Given the description of an element on the screen output the (x, y) to click on. 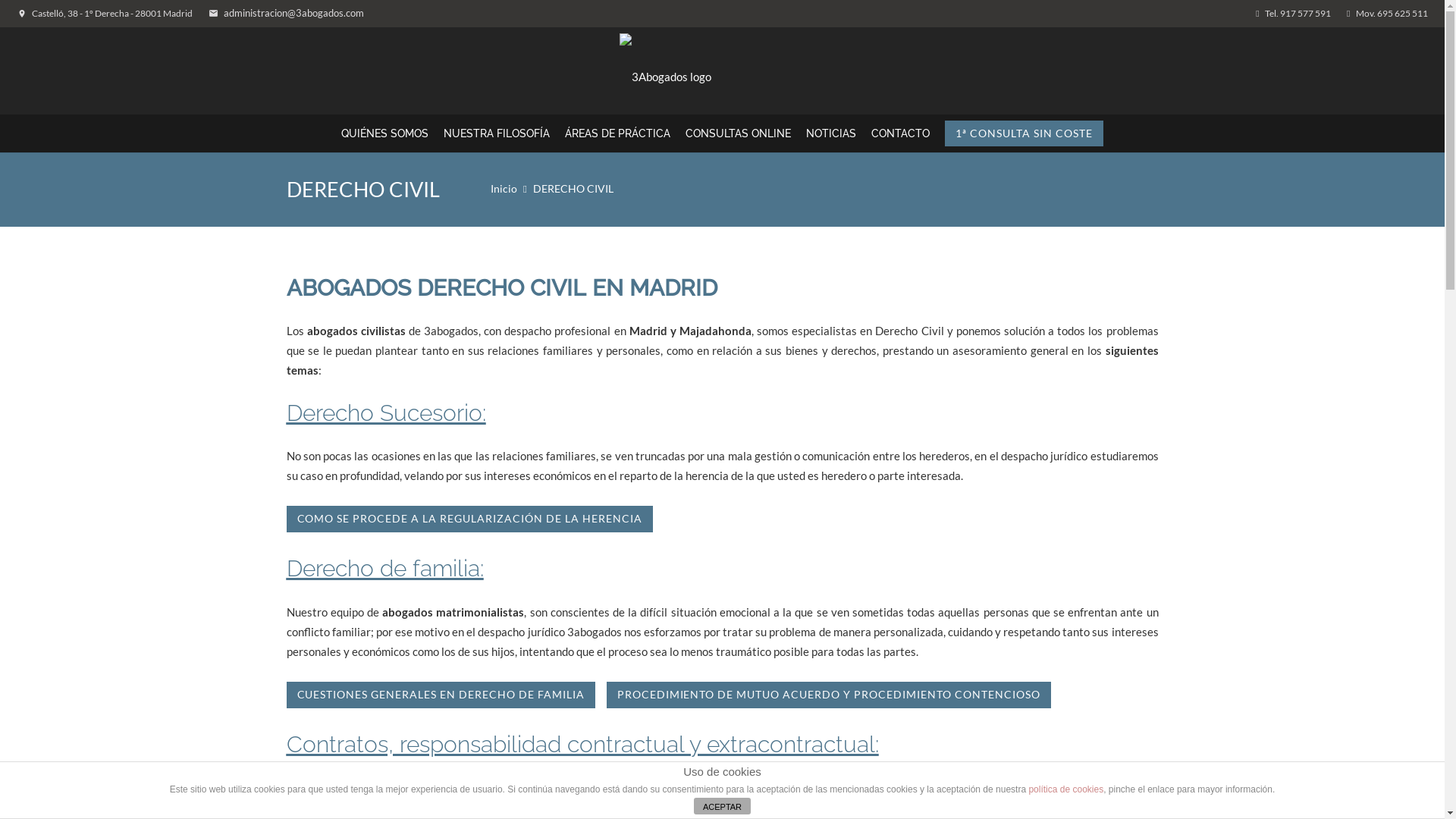
NOTICIAS Element type: text (830, 133)
DERECHO CIVIL Element type: text (573, 188)
CONTACTO Element type: text (900, 133)
ACEPTAR Element type: text (721, 805)
PROCEDIMIENTO DE MUTUO ACUERDO Y PROCEDIMIENTO CONTENCIOSO Element type: text (828, 694)
CONSULTAS ONLINE Element type: text (737, 133)
CUESTIONES GENERALES EN DERECHO DE FAMILIA Element type: text (440, 694)
Inicio Element type: text (503, 188)
